Given the description of an element on the screen output the (x, y) to click on. 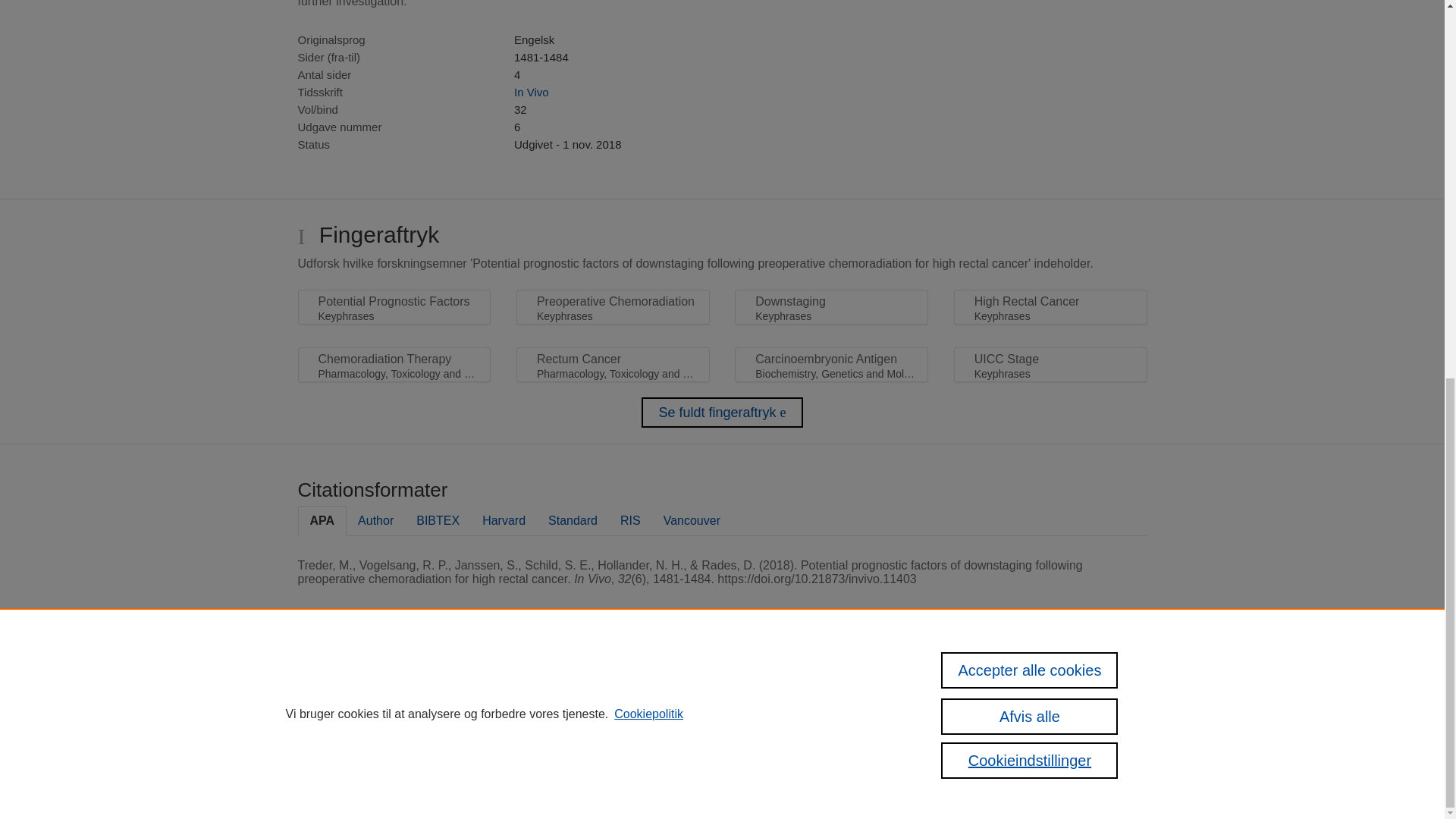
Pure (477, 685)
Se fuldt fingeraftryk (722, 412)
In Vivo (530, 91)
